Given the description of an element on the screen output the (x, y) to click on. 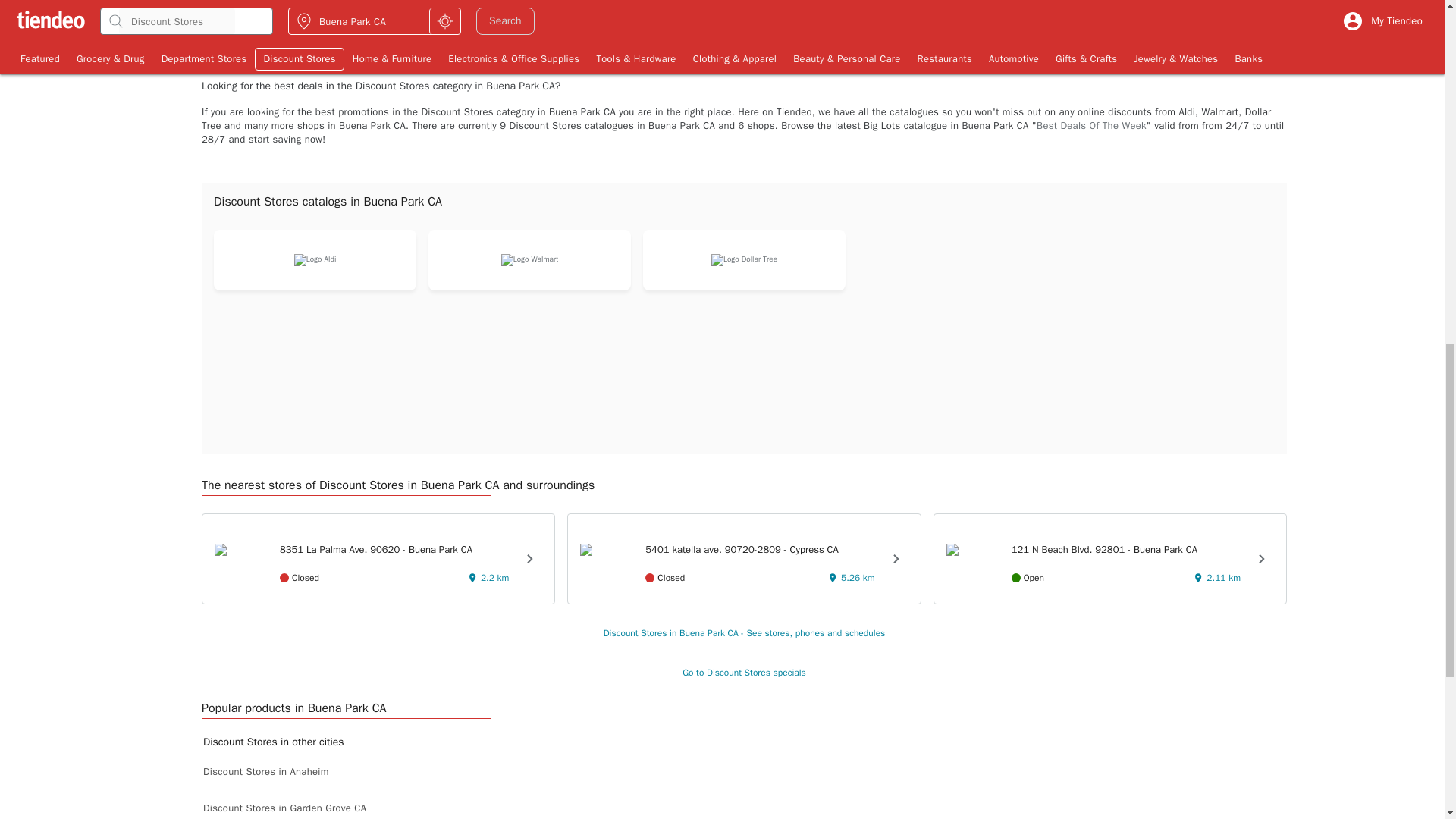
Logo Aldi (315, 259)
Logo Dollar Tree (744, 259)
Logo Walmart (962, 12)
